Given the description of an element on the screen output the (x, y) to click on. 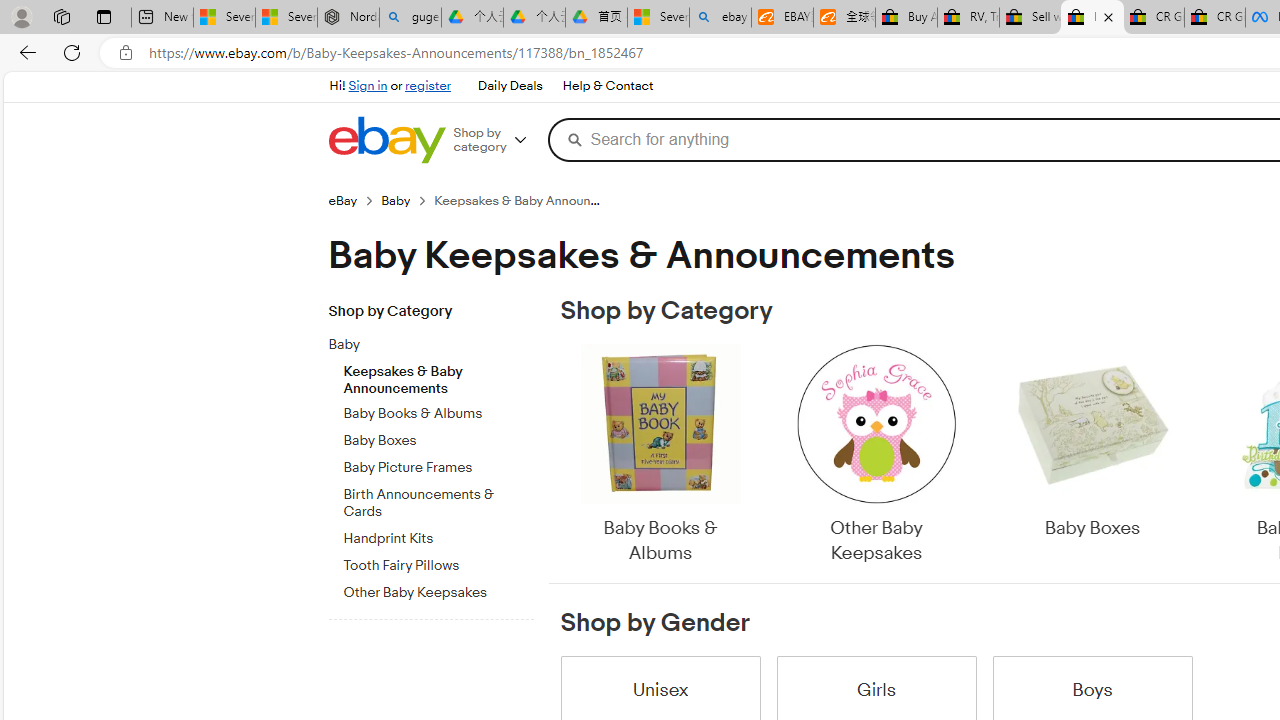
Buy Auto Parts & Accessories | eBay (905, 17)
eBay (342, 200)
Birth Announcements & Cards (438, 500)
Daily Deals (509, 86)
Baby Picture Frames (438, 464)
guge yunpan - Search (410, 17)
register (427, 85)
Baby (438, 341)
Daily Deals (509, 85)
